Given the description of an element on the screen output the (x, y) to click on. 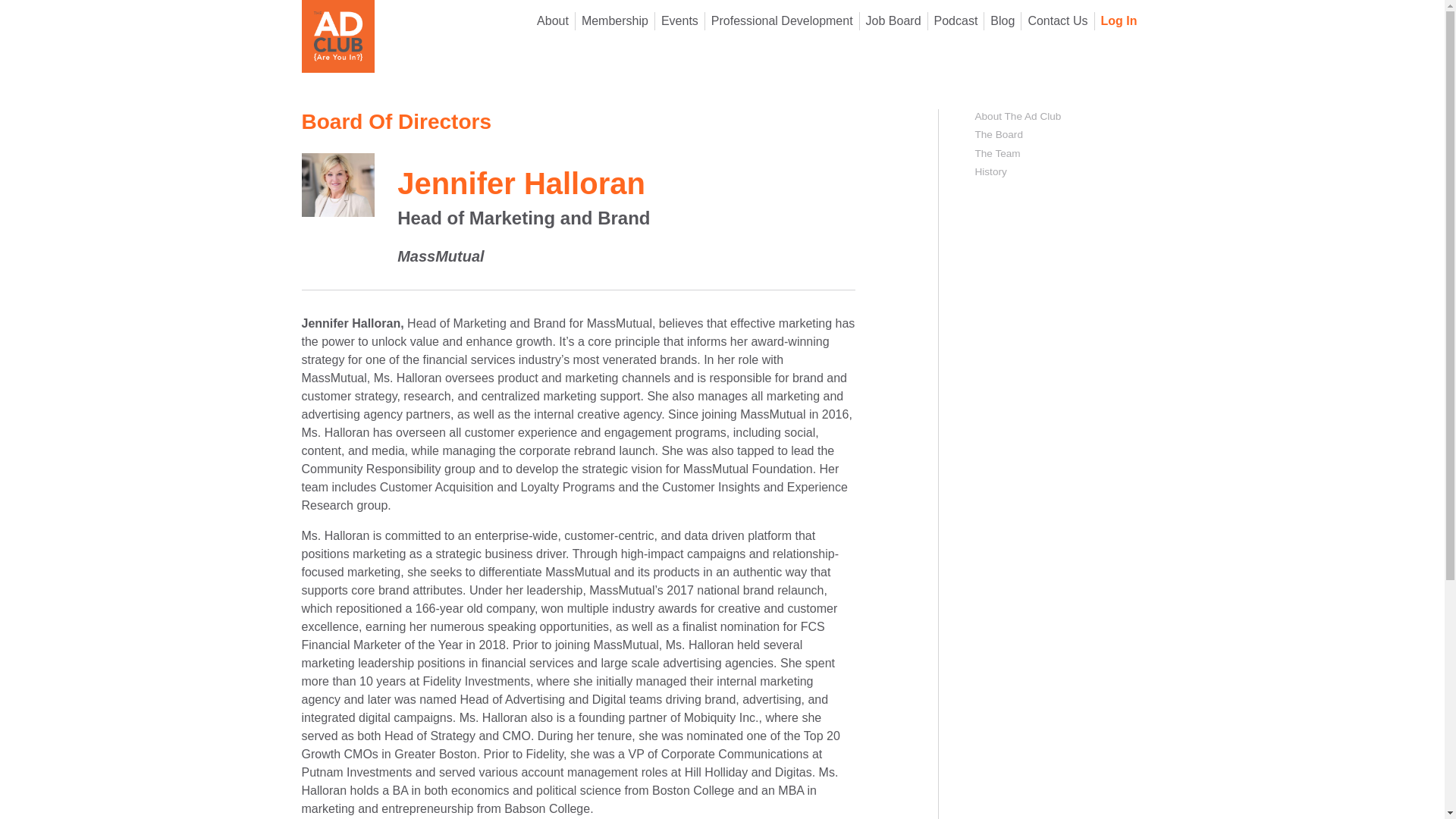
Membership (614, 21)
About (553, 21)
Events (679, 21)
Events (679, 21)
Membership (614, 21)
About (553, 21)
